Given the description of an element on the screen output the (x, y) to click on. 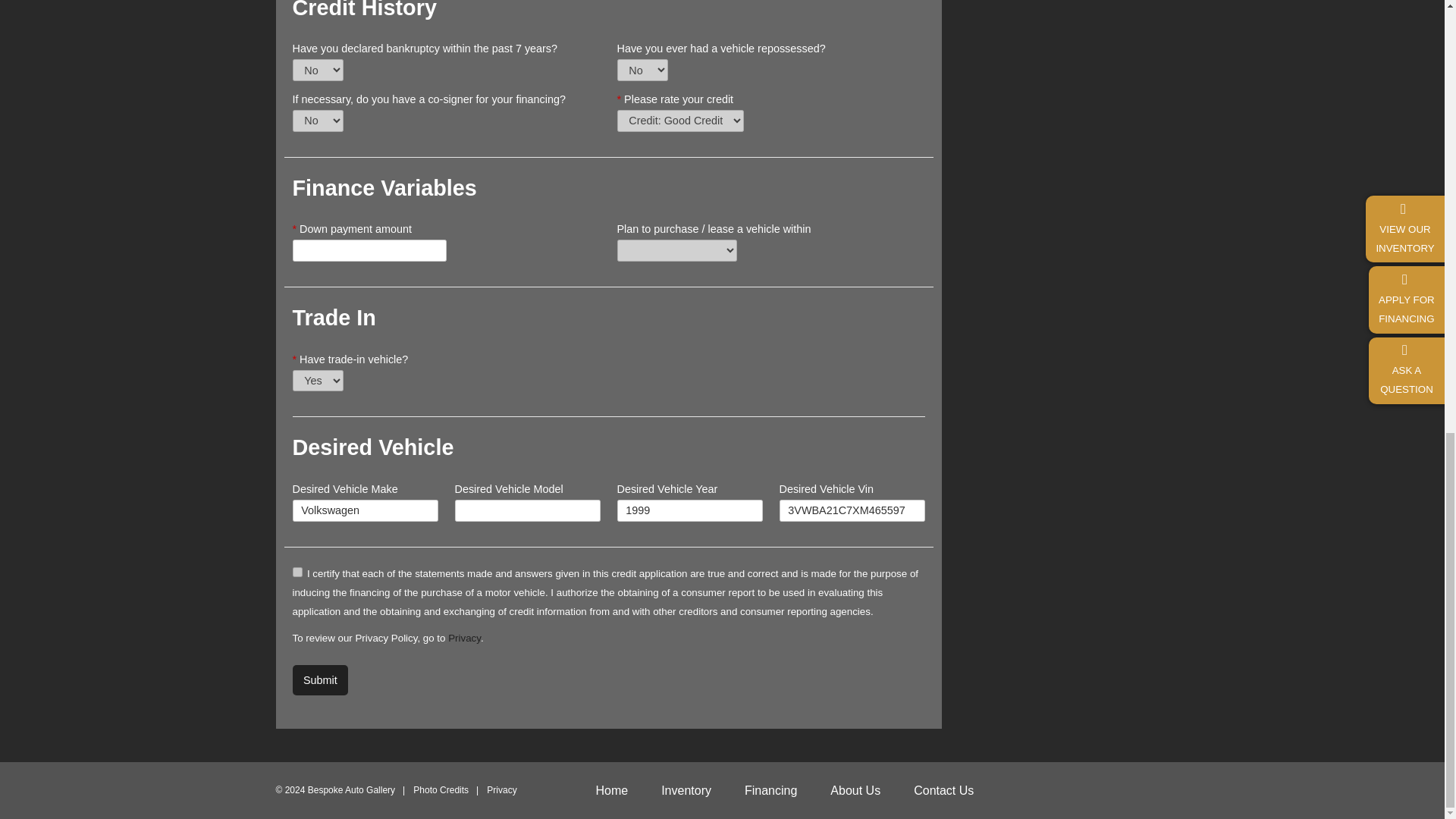
Privacy (464, 637)
Privacy (501, 790)
Home (611, 790)
Inventory (686, 790)
Financing (770, 790)
About Us (854, 790)
Contact Us (944, 790)
Submit (320, 679)
Photo Credits (440, 790)
